Given the description of an element on the screen output the (x, y) to click on. 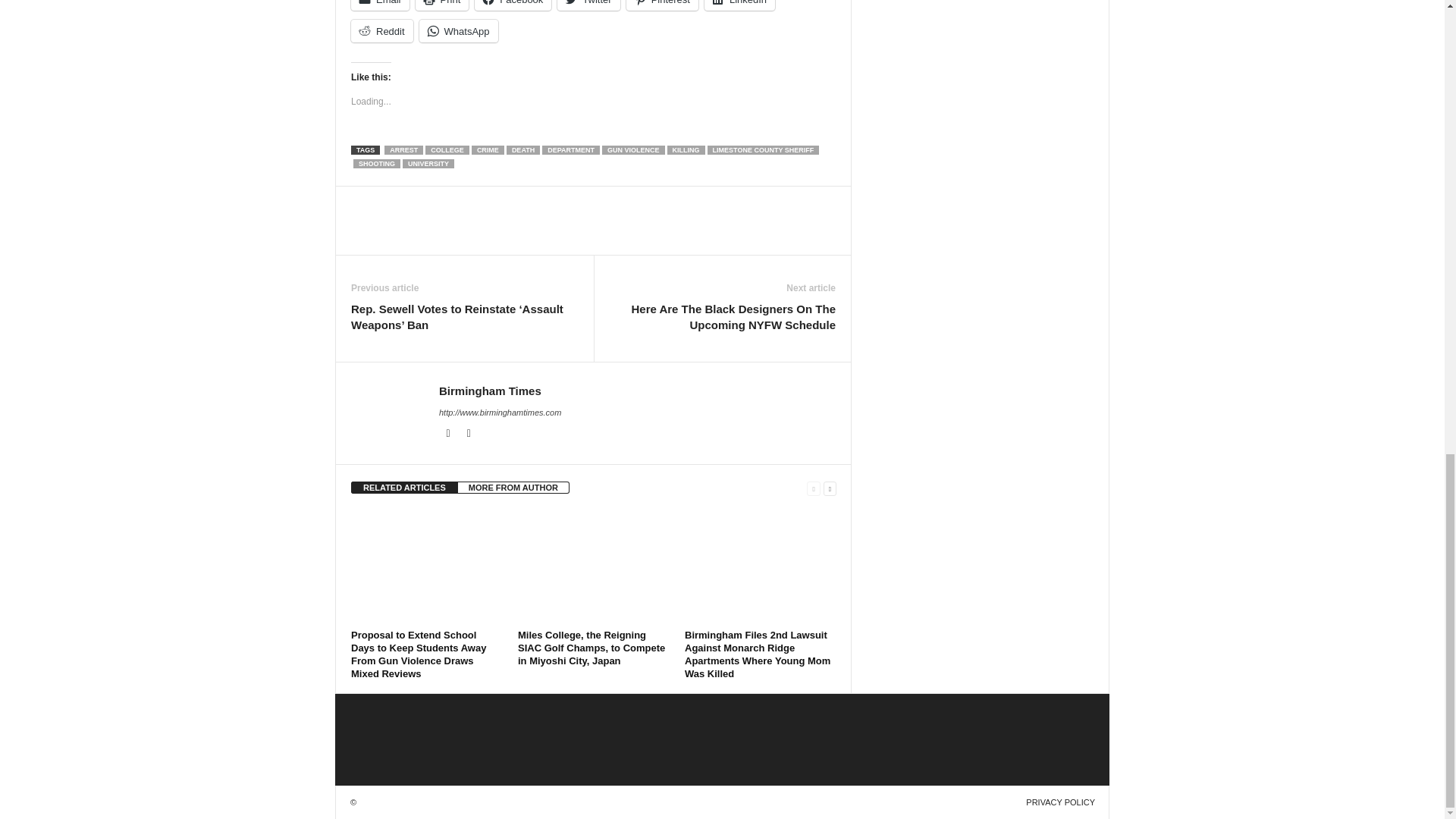
Click to email a link to a friend (379, 5)
Click to share on LinkedIn (739, 5)
Click to print (441, 5)
Click to share on Reddit (381, 30)
Click to share on WhatsApp (458, 30)
Click to share on Pinterest (662, 5)
Click to share on Twitter (588, 5)
bottomFacebookLike (390, 201)
Click to share on Facebook (512, 5)
